Given the description of an element on the screen output the (x, y) to click on. 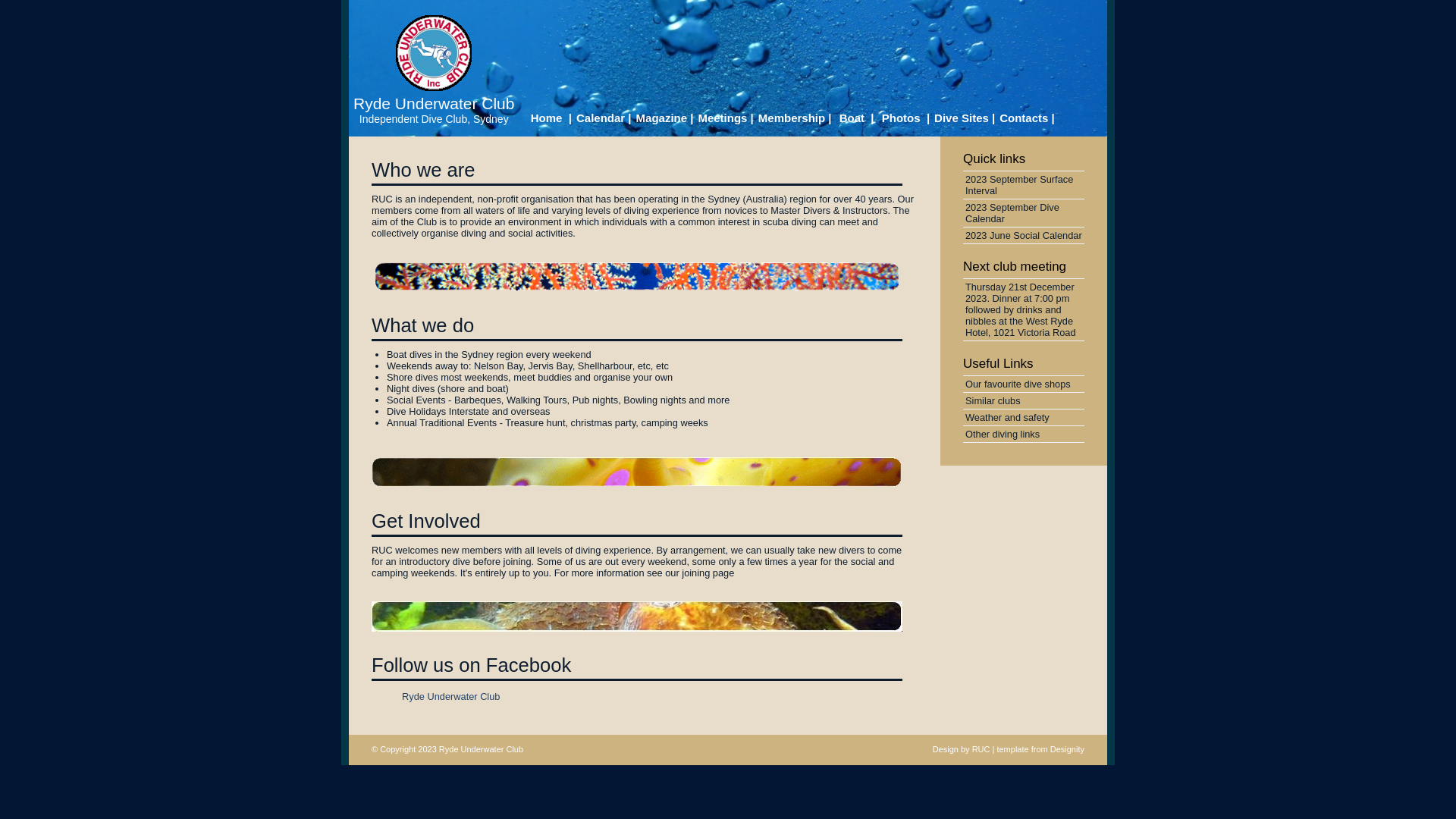
2023 September Surface Interval Element type: text (1023, 184)
Ryde Underwater Club Element type: text (450, 696)
Magazine | Element type: text (664, 118)
Weather and safety Element type: text (1023, 417)
  Home  | Element type: text (547, 118)
 Photos  | Element type: text (904, 118)
Similar clubs Element type: text (1023, 400)
Calendar | Element type: text (603, 118)
Other diving links Element type: text (1023, 434)
Membership | Element type: text (795, 118)
2023 June Social Calendar Element type: text (1023, 235)
2023 September Dive Calendar Element type: text (1023, 212)
Ryde Underwater Club Element type: text (433, 103)
Contacts | Element type: text (1027, 118)
Designity Element type: text (1067, 748)
 Boat  | Element type: text (855, 118)
Our favourite dive shops Element type: text (1023, 384)
Meetings | Element type: text (725, 118)
Dive Sites | Element type: text (964, 118)
